Given the description of an element on the screen output the (x, y) to click on. 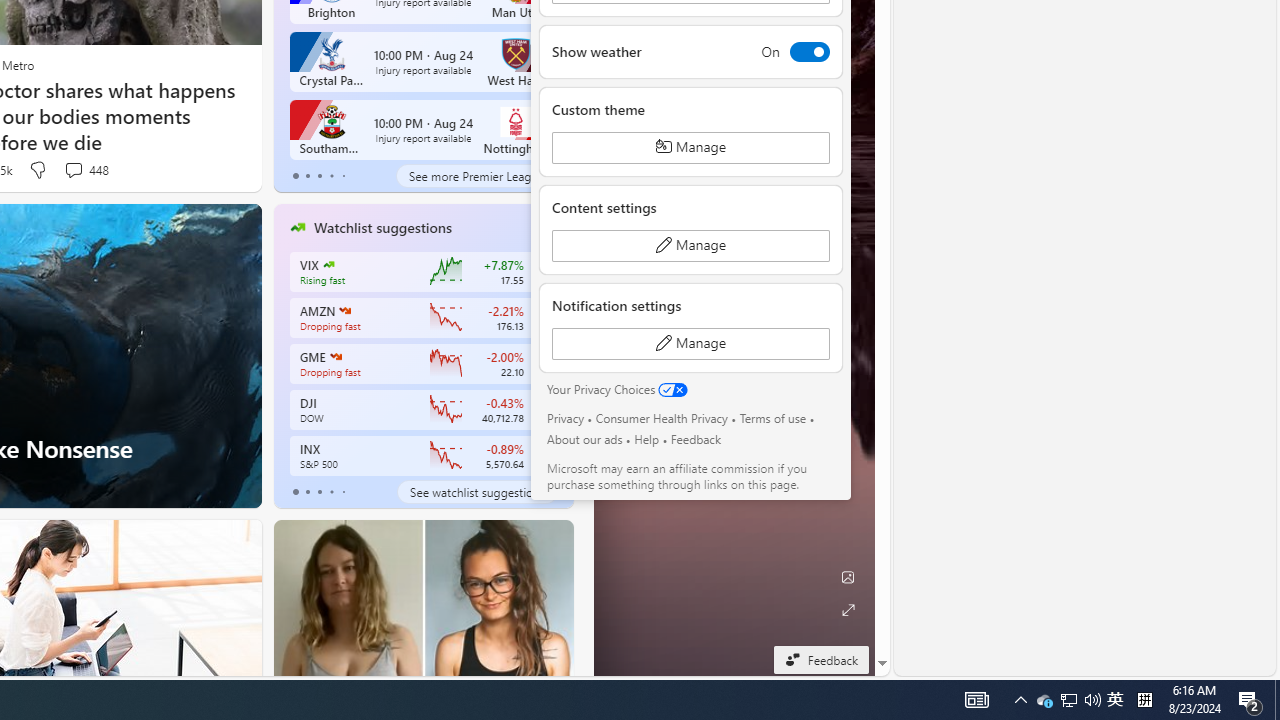
See watchlist suggestions (476, 491)
tab-1 (306, 491)
Class: icon-img (543, 228)
Your Privacy Choices (617, 390)
tab-3 (331, 491)
Terms of use (772, 417)
Edit Background (847, 577)
tab-2 (319, 491)
Class: follow-button  m (539, 455)
